Given the description of an element on the screen output the (x, y) to click on. 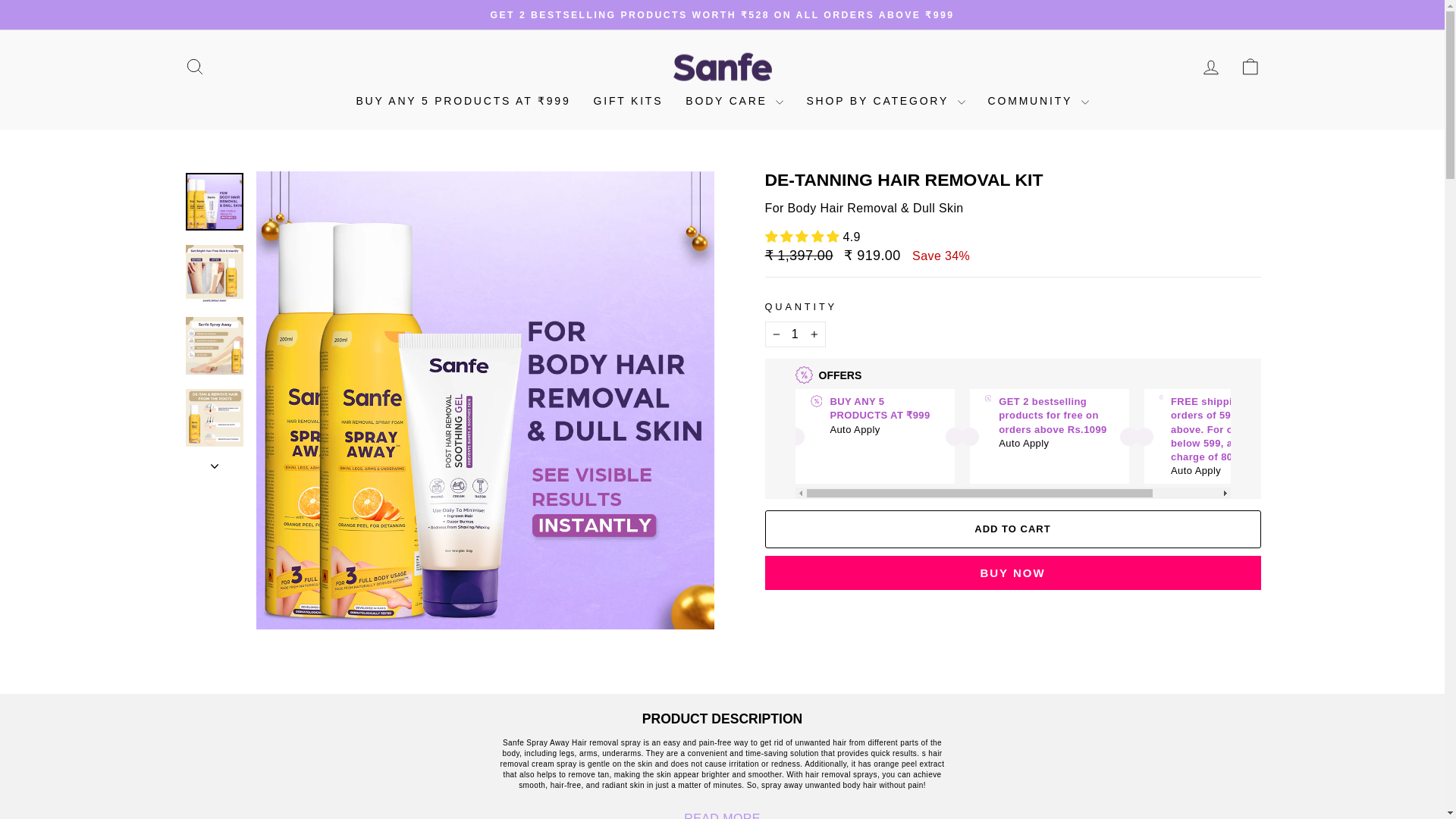
1 (794, 334)
ACCOUNT (1210, 66)
ICON-SEARCH (194, 66)
ICON-BAG-MINIMAL (1249, 66)
